Given the description of an element on the screen output the (x, y) to click on. 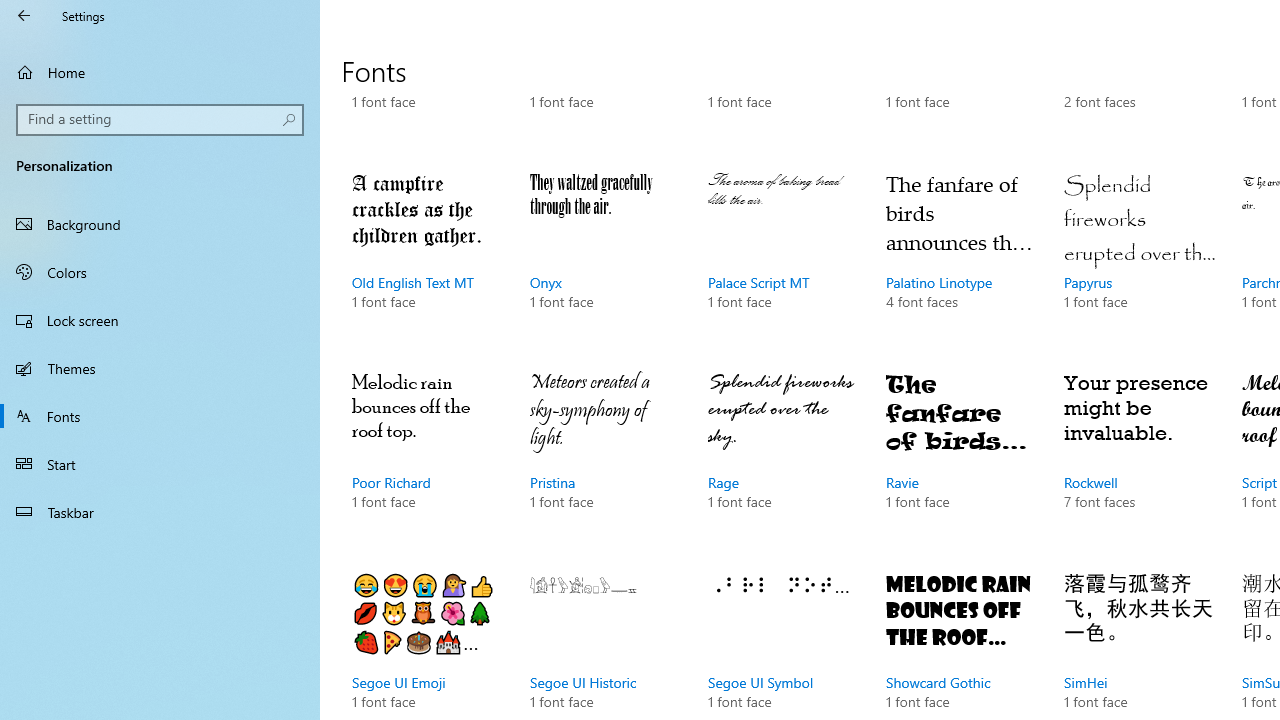
Taskbar (160, 511)
MV Boli, 1 font face (961, 80)
Background (160, 223)
Palace Script MT, 1 font face (783, 260)
Start (160, 463)
Old English Text MT, 1 font face (426, 260)
Ravie, 1 font face (961, 460)
Rage, 1 font face (783, 460)
Fonts (160, 415)
MS Reference Specialty, 1 font face (426, 80)
